Given the description of an element on the screen output the (x, y) to click on. 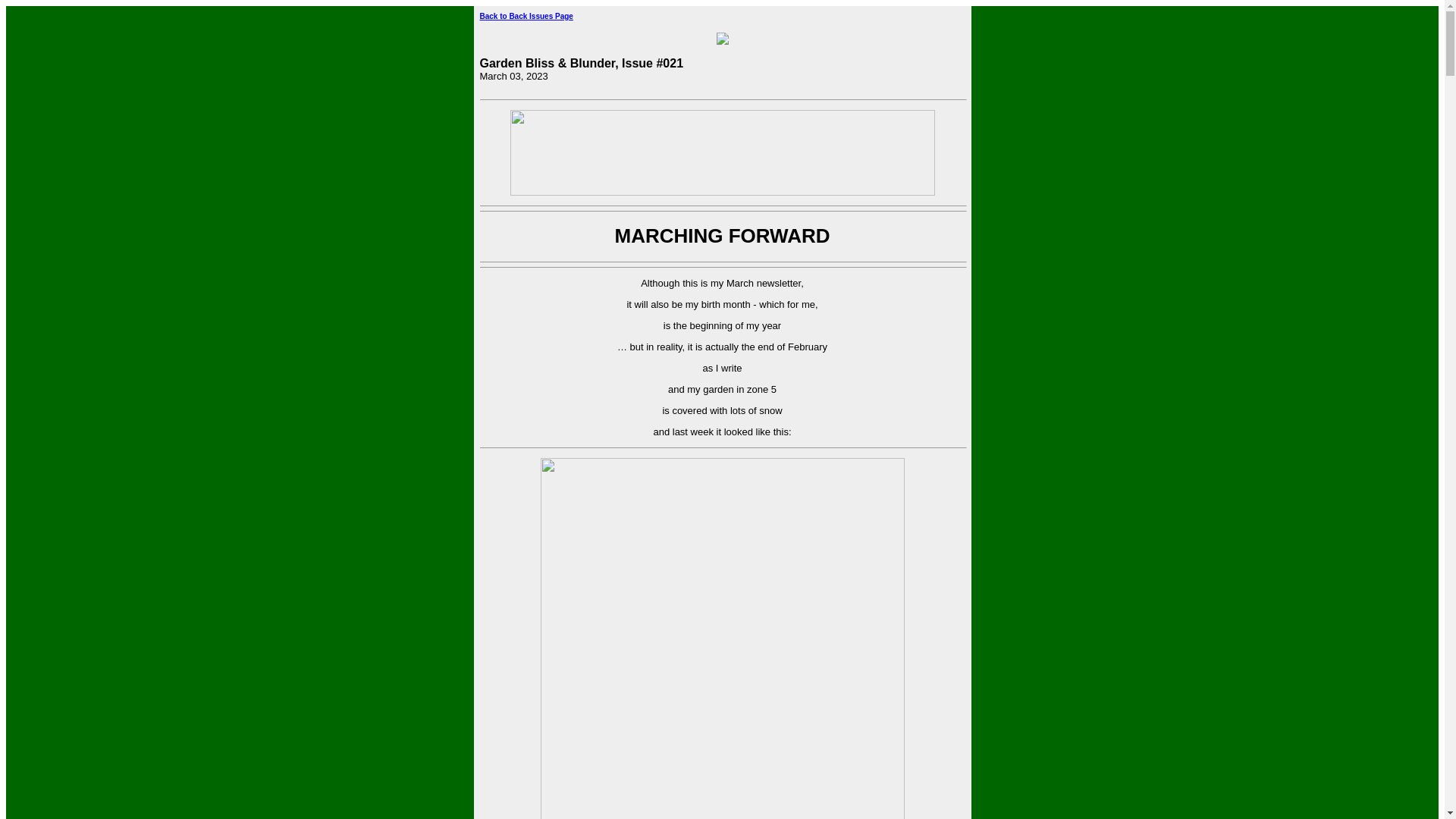
winter shadows (722, 638)
Back to Back Issues Page (525, 16)
